Given the description of an element on the screen output the (x, y) to click on. 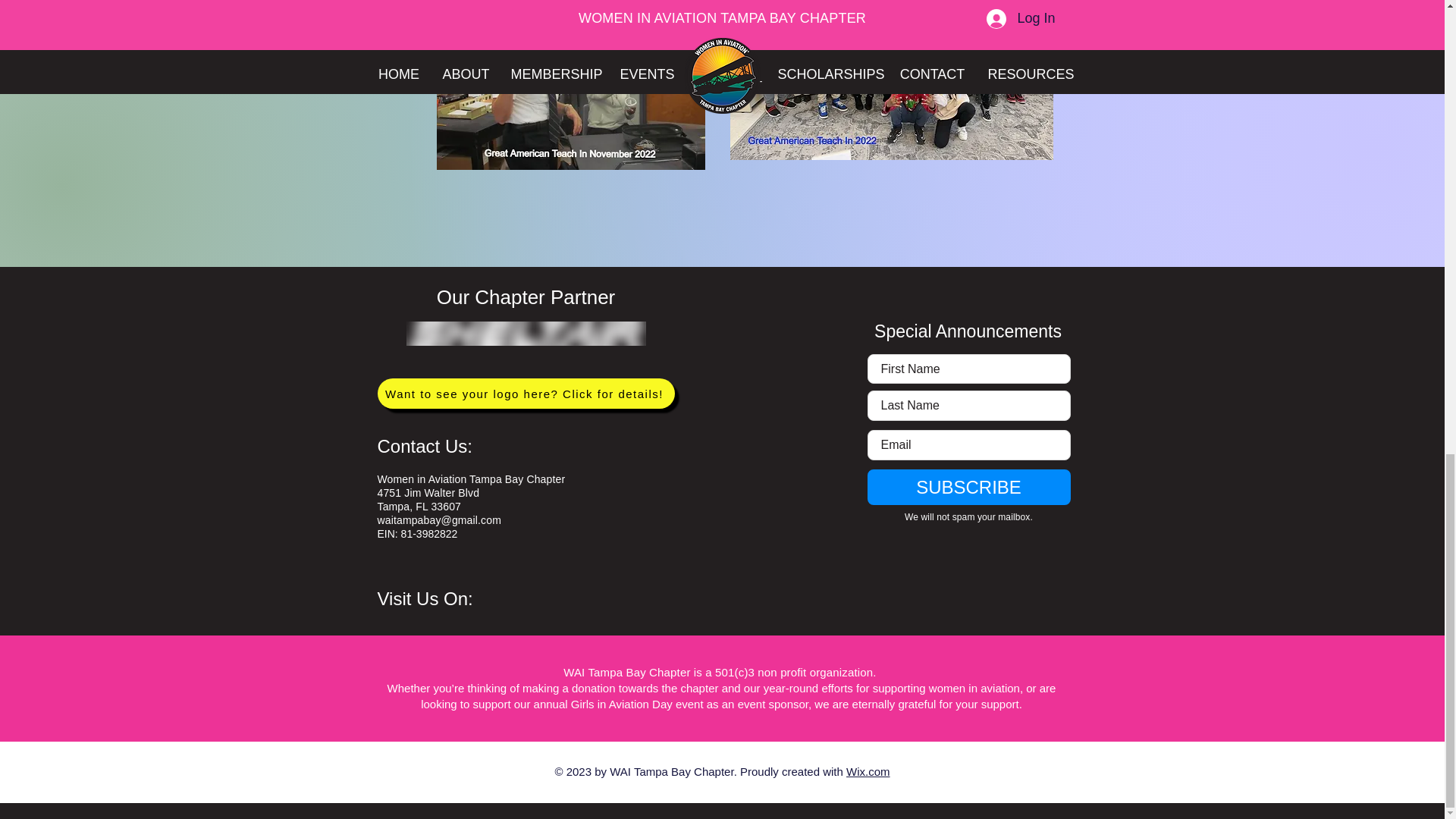
SUBSCRIBE (968, 487)
Wix.com (867, 771)
Want to see your logo here? Click for details! (526, 393)
